Given the description of an element on the screen output the (x, y) to click on. 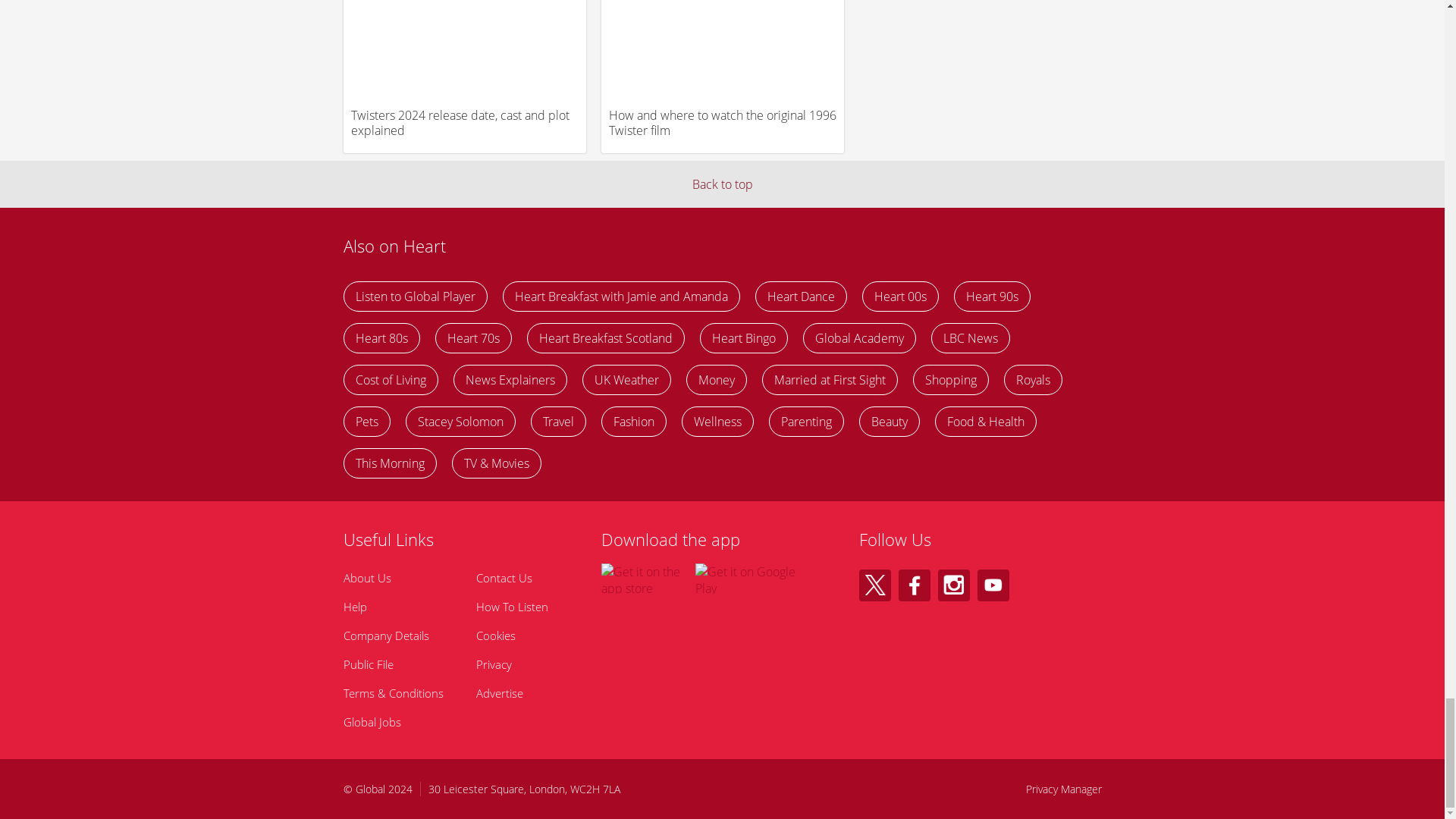
Back to top (721, 184)
Follow Heart on X (874, 585)
Follow Heart on Youtube (992, 585)
Follow Heart on Facebook (914, 585)
Follow Heart on Instagram (953, 585)
